Given the description of an element on the screen output the (x, y) to click on. 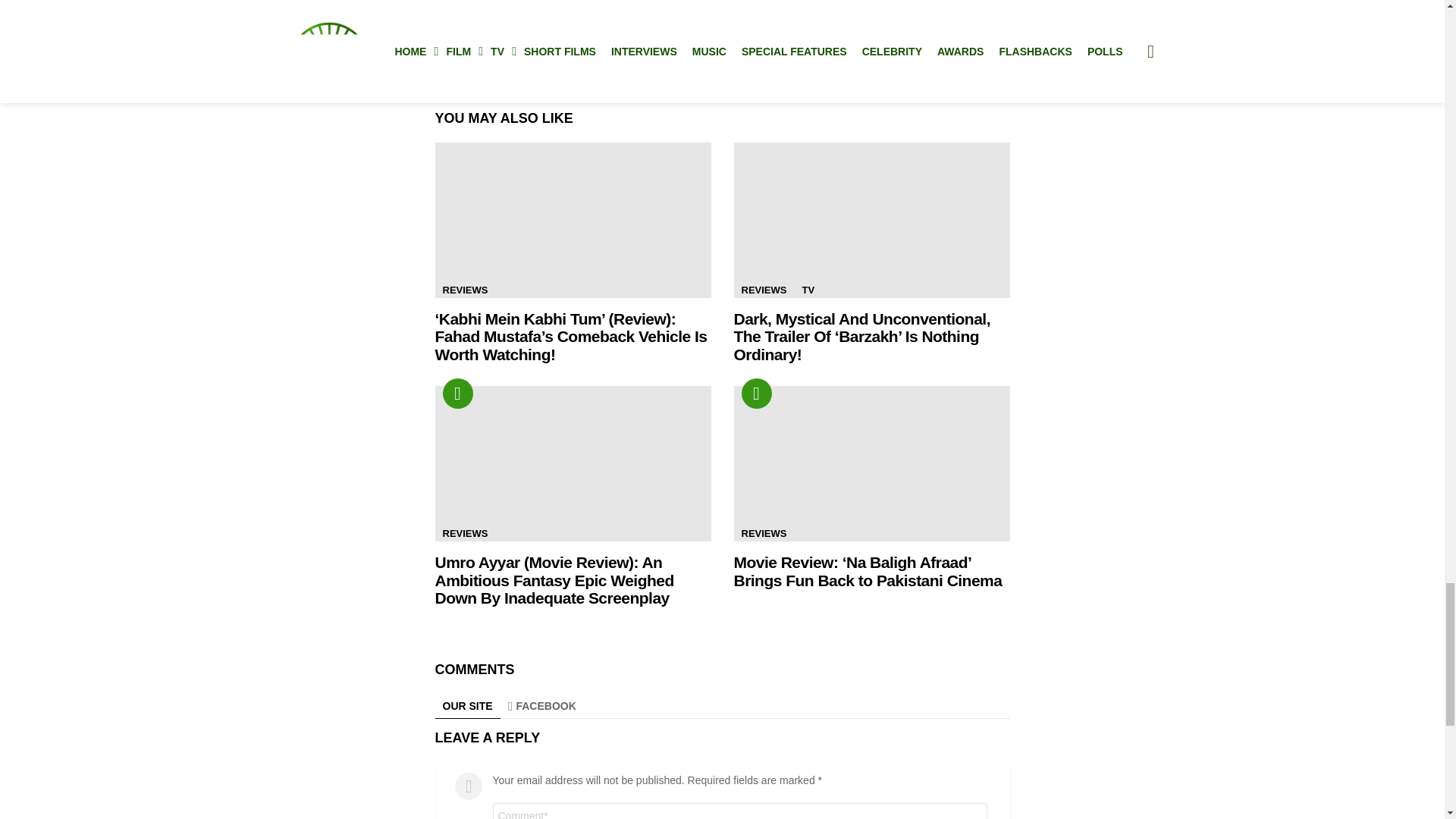
Hot (756, 393)
Hot (457, 393)
